Given the description of an element on the screen output the (x, y) to click on. 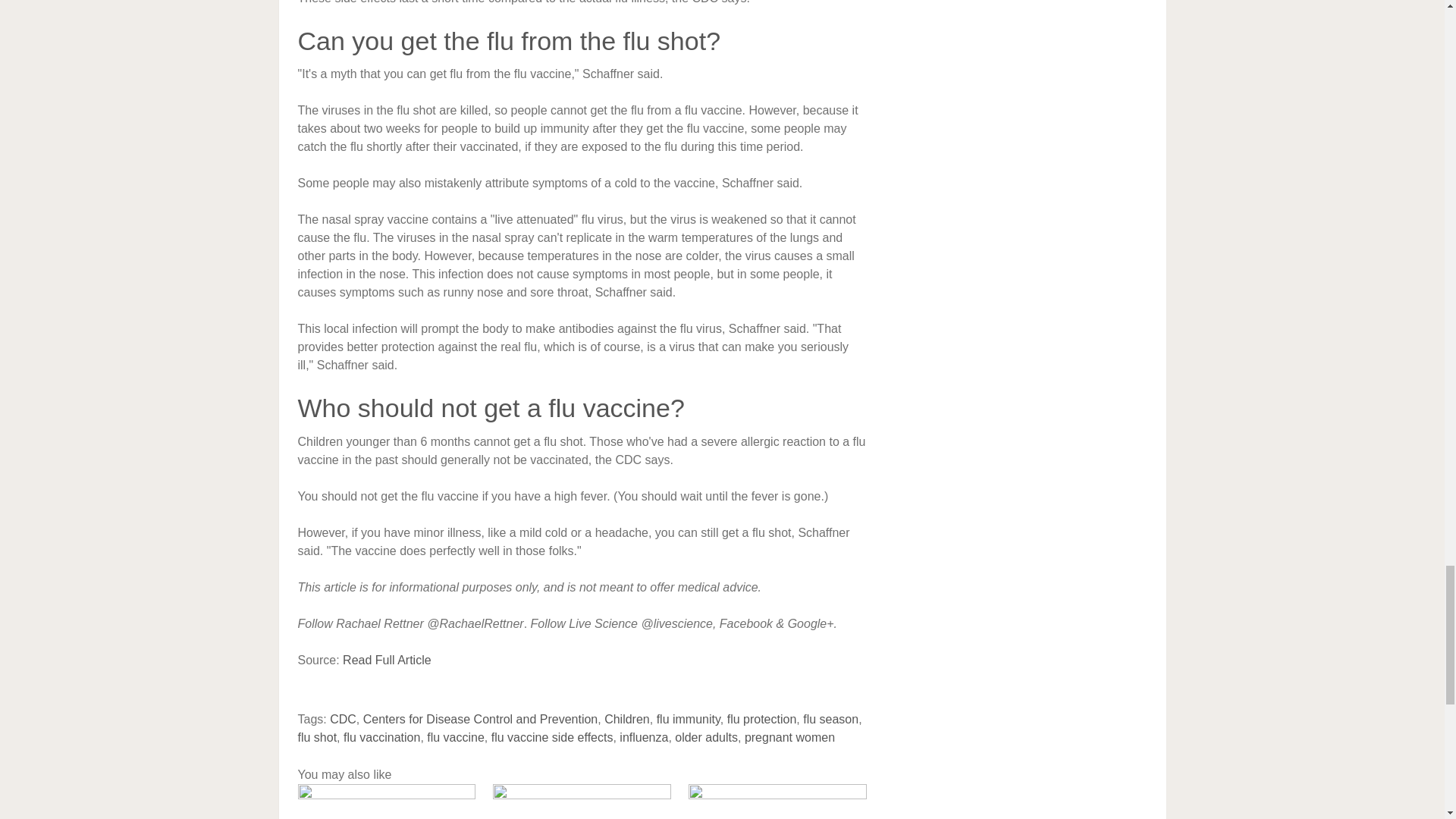
Centers for Disease Control and Prevention (480, 718)
flu immunity (688, 718)
flu vaccine side effects (552, 737)
flu protection (761, 718)
flu vaccine (455, 737)
older adults (706, 737)
CDC (343, 718)
Read Full Article (386, 659)
Knee-jerk vaping bans will fail public health, experts argue (582, 801)
flu season (831, 718)
flu vaccination (381, 737)
flu shot (316, 737)
Children (626, 718)
pregnant women (789, 737)
